Given the description of an element on the screen output the (x, y) to click on. 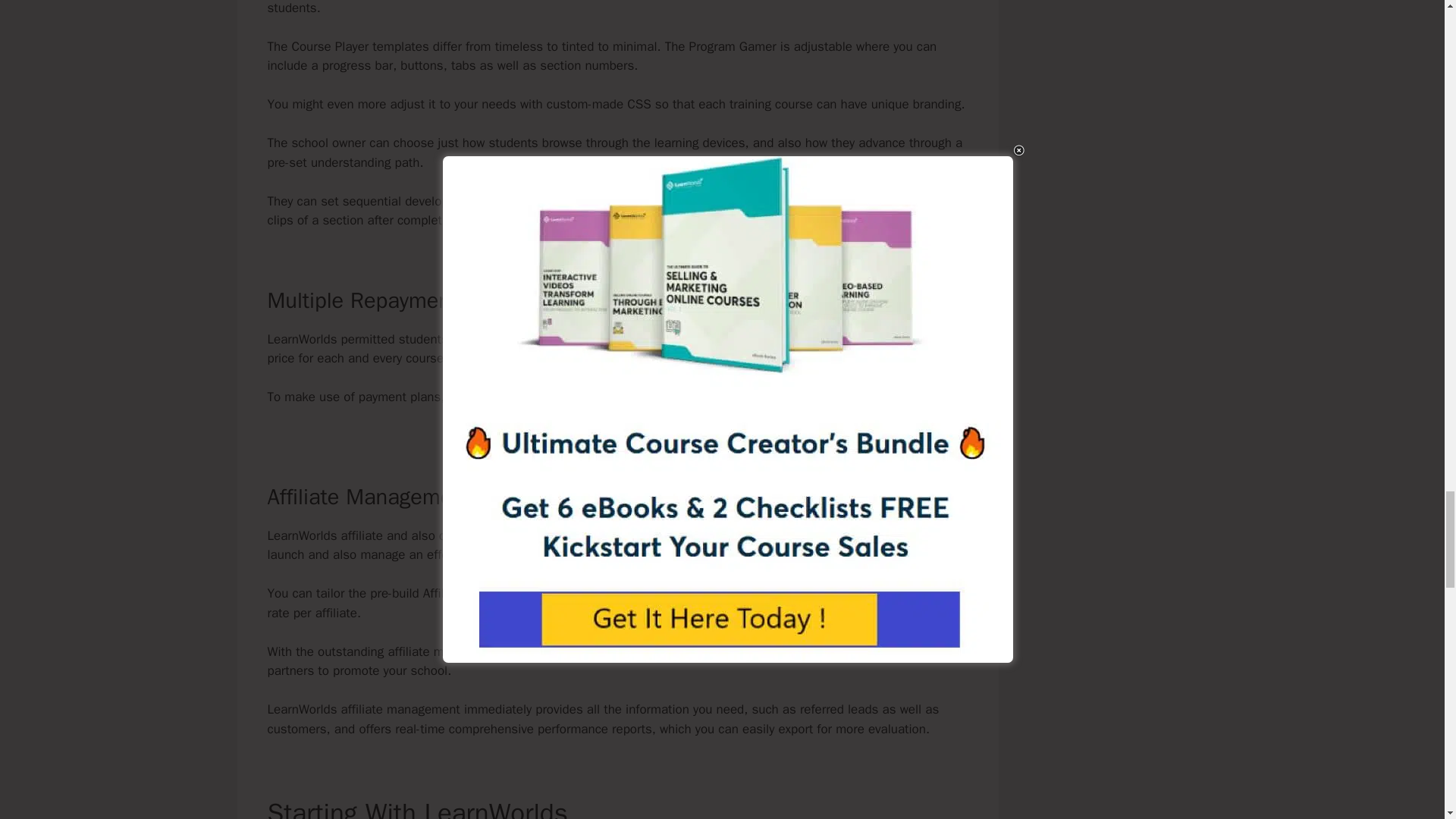
PayPal (816, 396)
Stripe (693, 396)
